Given the description of an element on the screen output the (x, y) to click on. 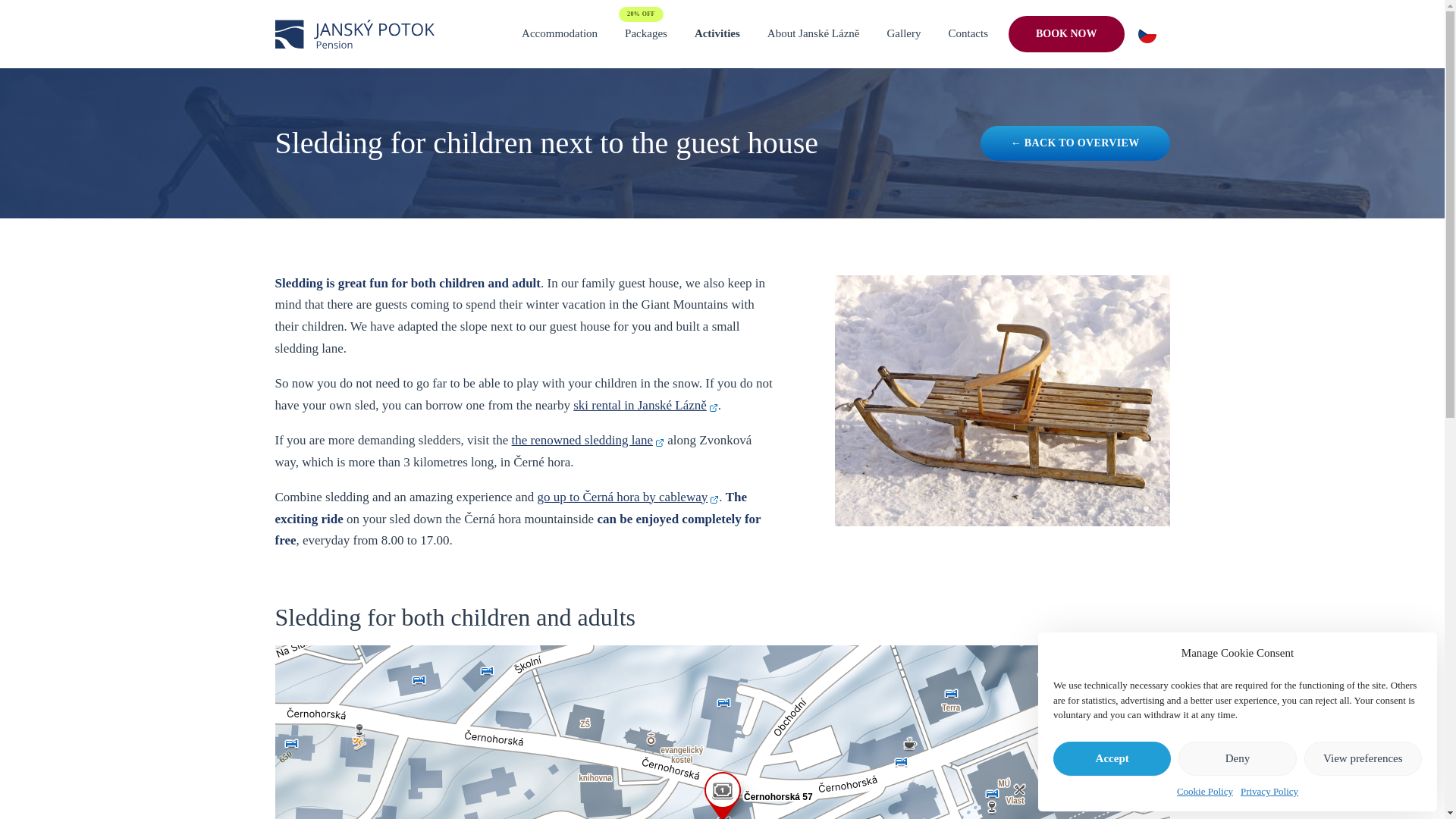
Contacts (967, 33)
Accommodation (559, 33)
View preferences (1363, 758)
Gallery (903, 33)
the renowned sledding lane (587, 440)
Packages (646, 33)
Activities (717, 33)
Privacy Policy (1269, 791)
Cookie Policy (1204, 791)
Accept (1111, 758)
BOOK NOW (1066, 33)
Deny (1236, 758)
